Given the description of an element on the screen output the (x, y) to click on. 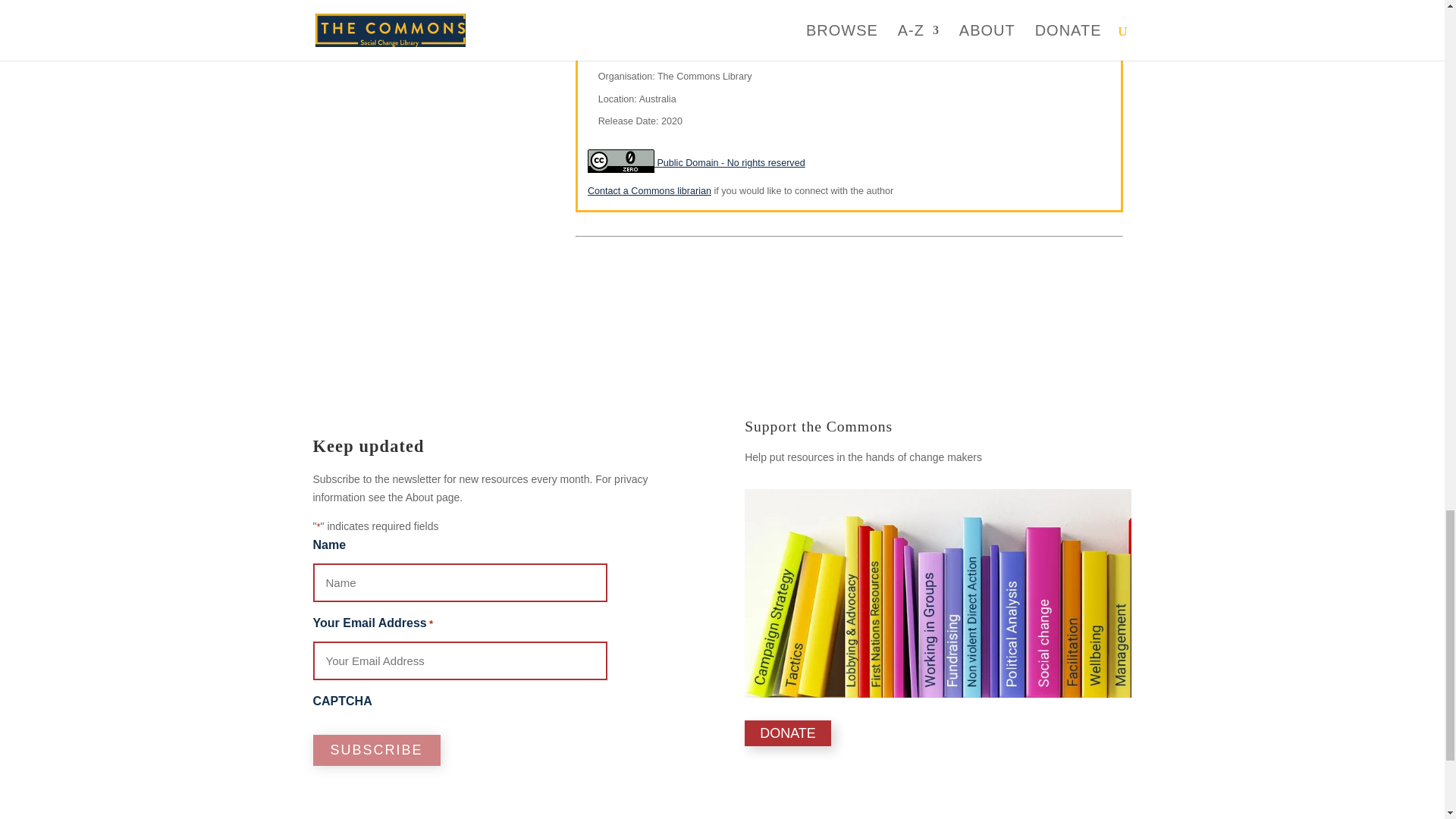
support (937, 592)
SUBSCRIBE (376, 749)
